Given the description of an element on the screen output the (x, y) to click on. 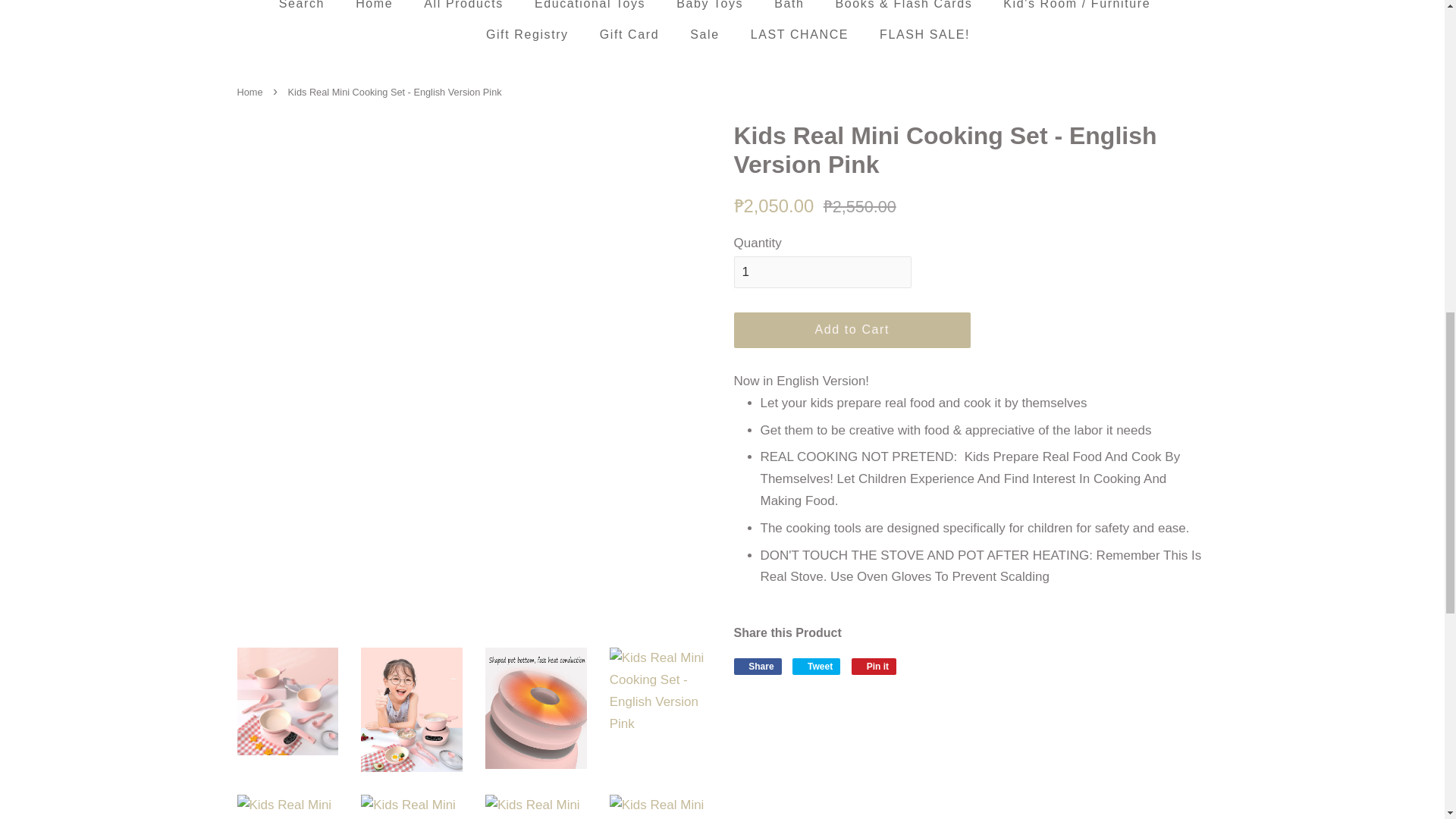
Pin on Pinterest (873, 666)
1 (822, 272)
Tweet on Twitter (816, 666)
Back to the frontpage (250, 91)
Share on Facebook (757, 666)
